Given the description of an element on the screen output the (x, y) to click on. 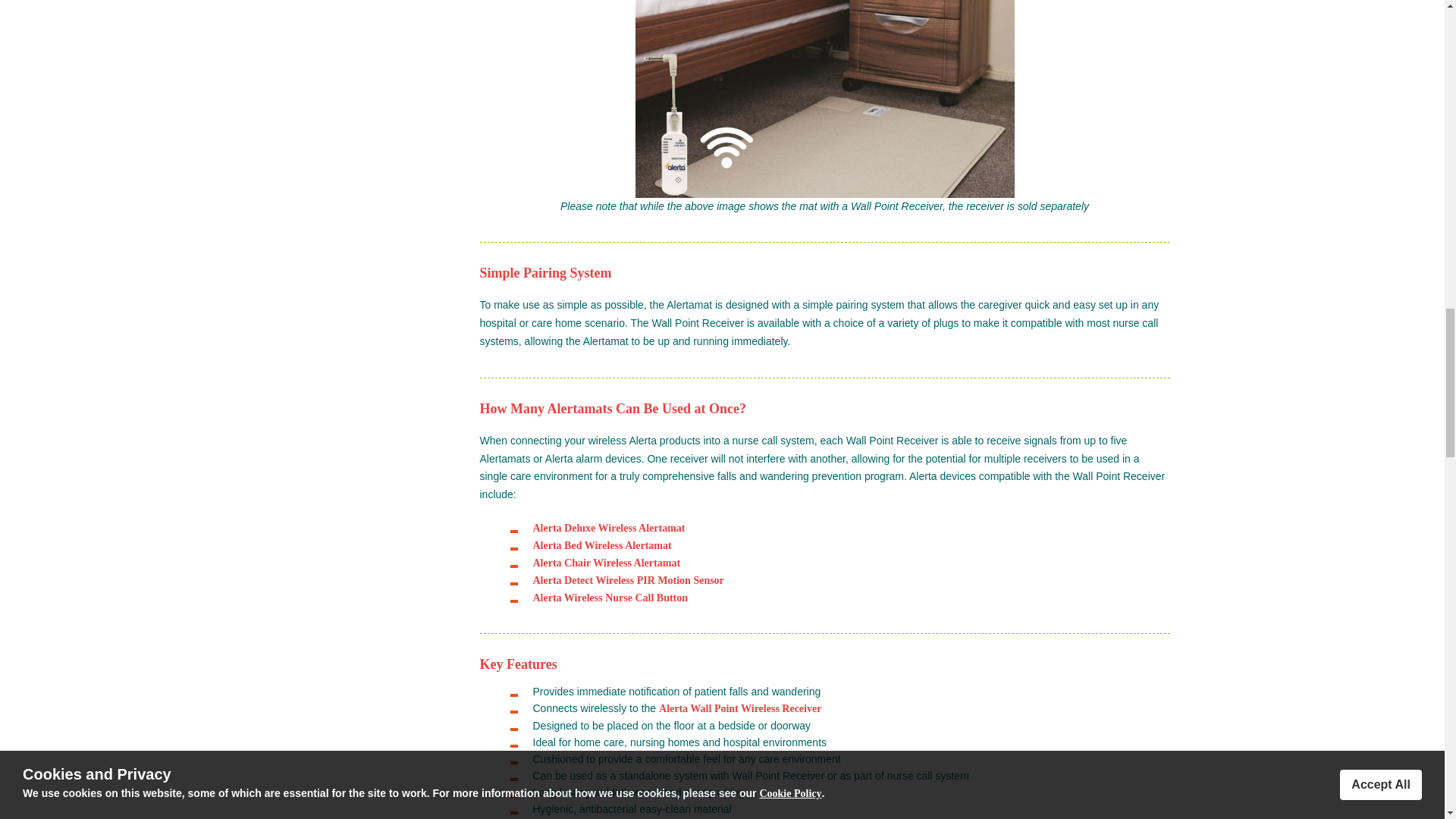
Alerta Wireless Mat in use (824, 98)
